Given the description of an element on the screen output the (x, y) to click on. 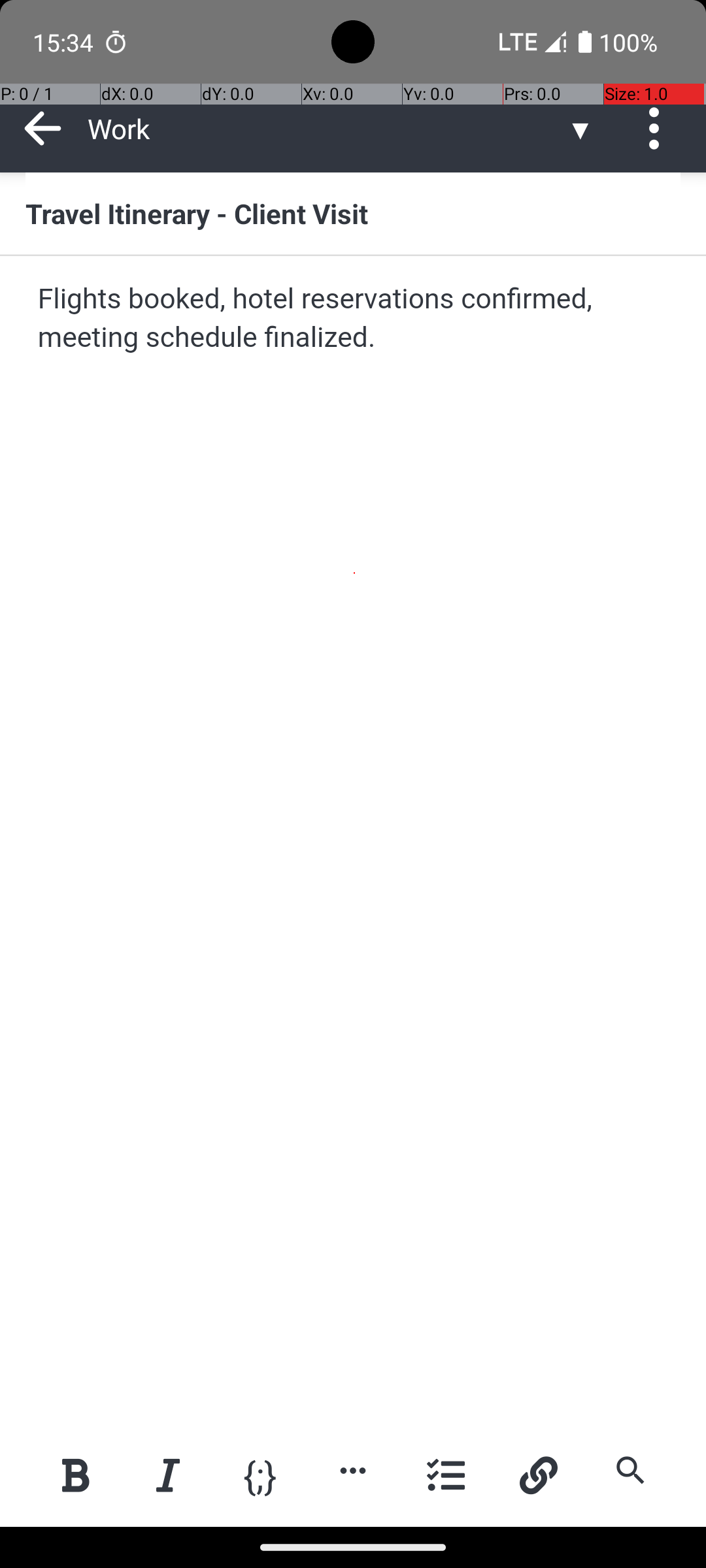
Travel Itinerary - Client Visit Element type: android.widget.EditText (352, 213)
Flights booked, hotel reservations confirmed, meeting schedule finalized. Element type: android.widget.EditText (354, 318)
